Given the description of an element on the screen output the (x, y) to click on. 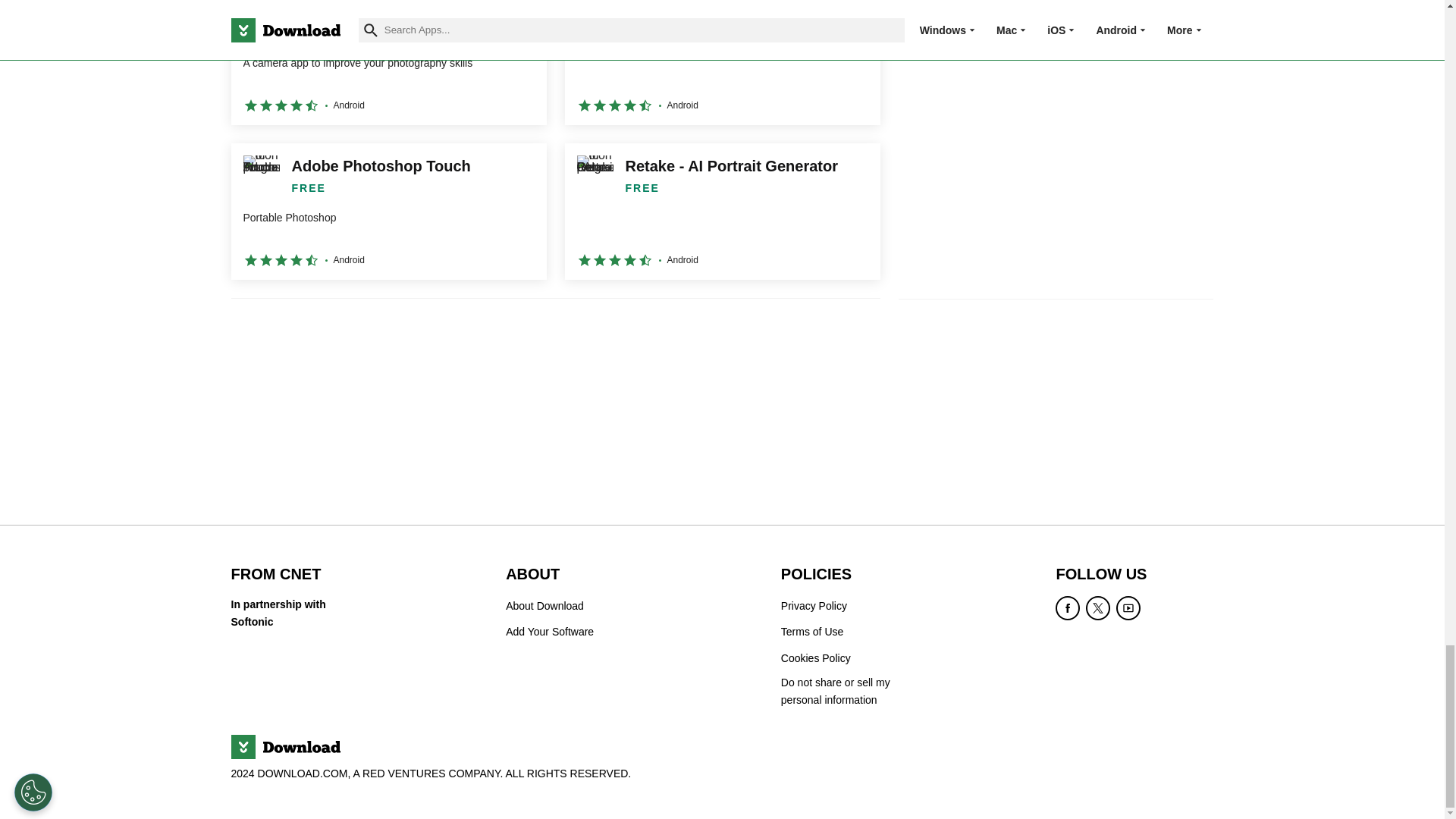
Download.com (284, 746)
Retake - AI Portrait Generator (721, 211)
Adobe Photoshop Touch (388, 211)
LMC8.4 - Google Camera (388, 62)
Maximum Zoom (721, 62)
Become a Facebook fan of Download.com (1067, 607)
